Given the description of an element on the screen output the (x, y) to click on. 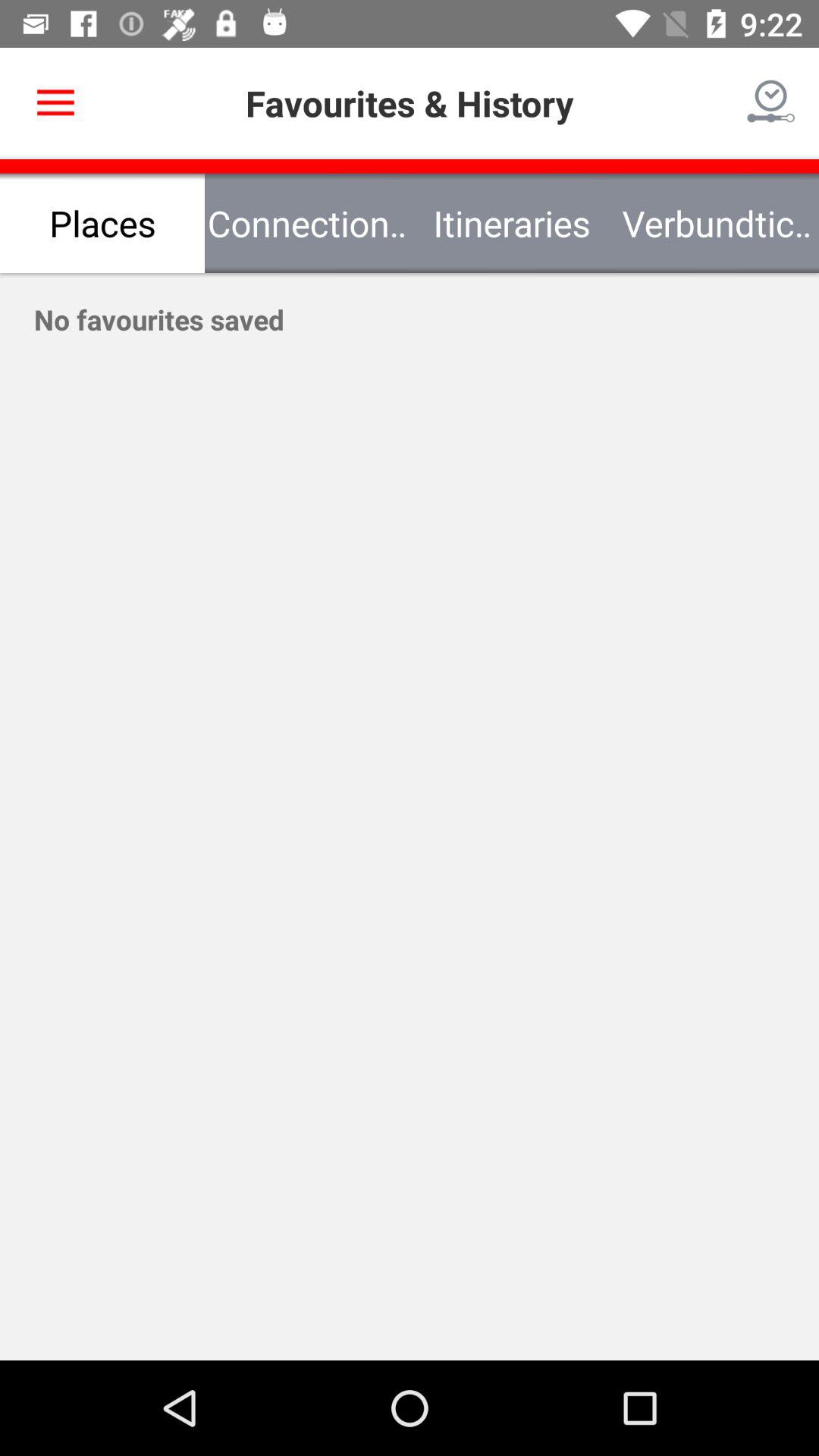
launch the icon next to the verbundtickets icon (511, 223)
